Given the description of an element on the screen output the (x, y) to click on. 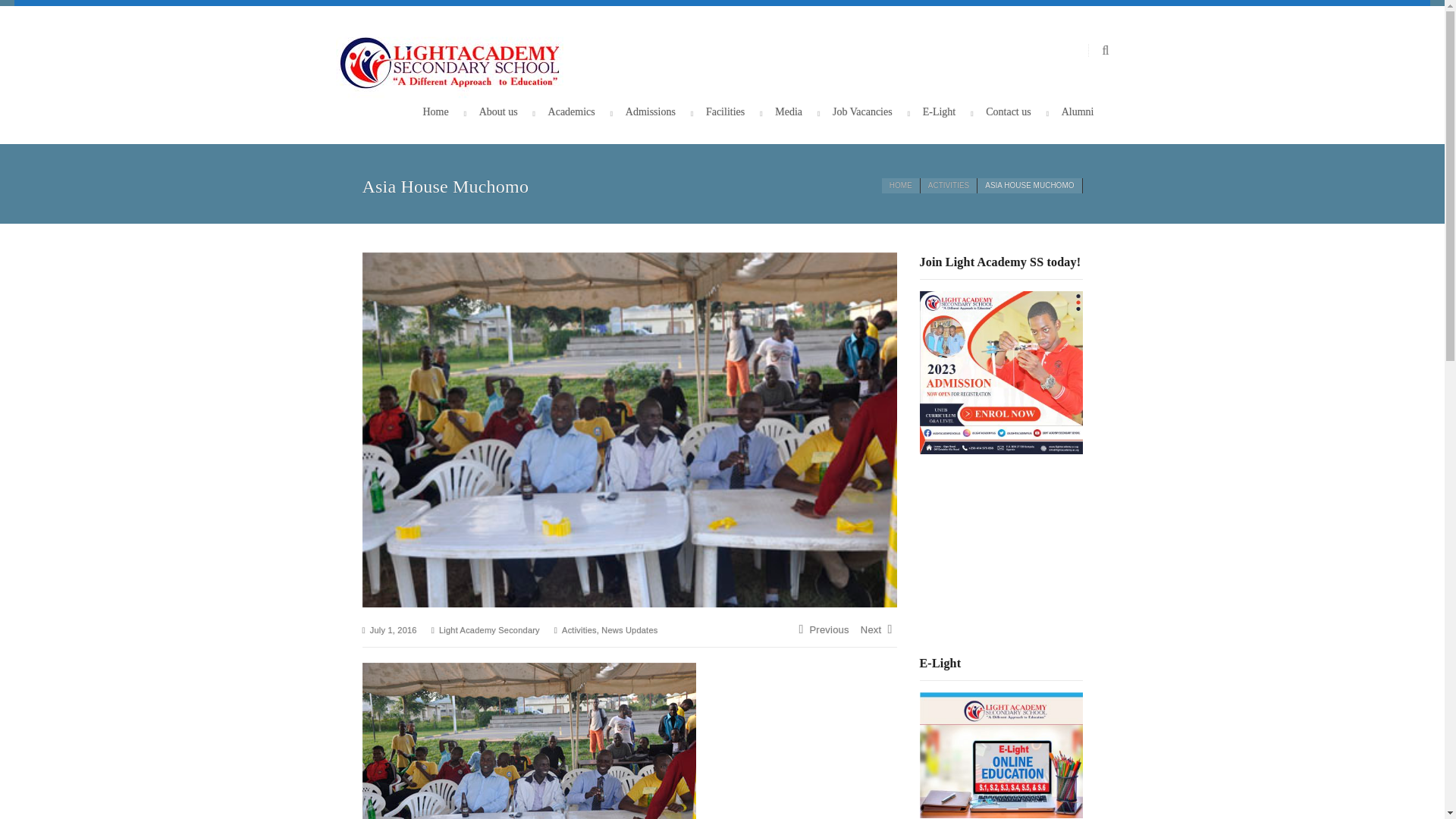
E-Light (939, 112)
About us (498, 112)
Home (435, 112)
HOME (900, 185)
Contact us (1007, 112)
Job Vacancies (862, 112)
Media (788, 112)
Facilities (725, 112)
Alumni (1077, 112)
Admissions (650, 112)
Academics (571, 112)
